Given the description of an element on the screen output the (x, y) to click on. 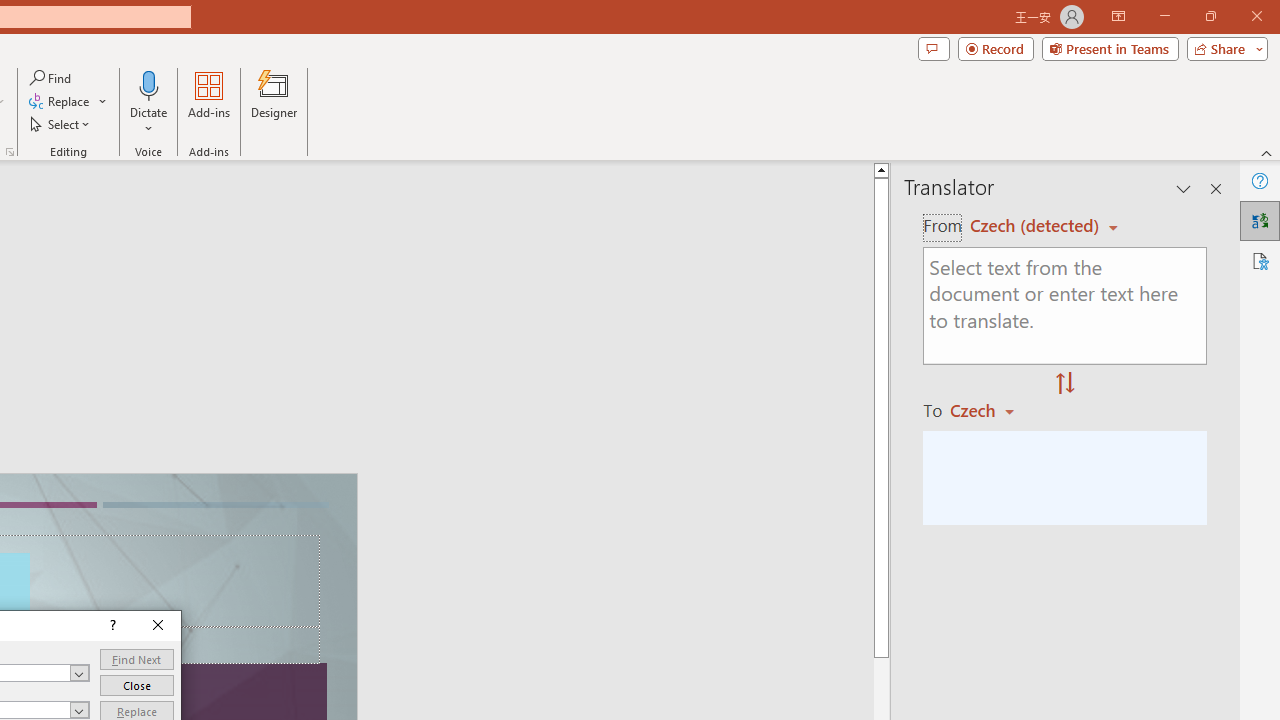
Czech (991, 409)
Czech (detected) (1037, 225)
Context help (111, 625)
